Given the description of an element on the screen output the (x, y) to click on. 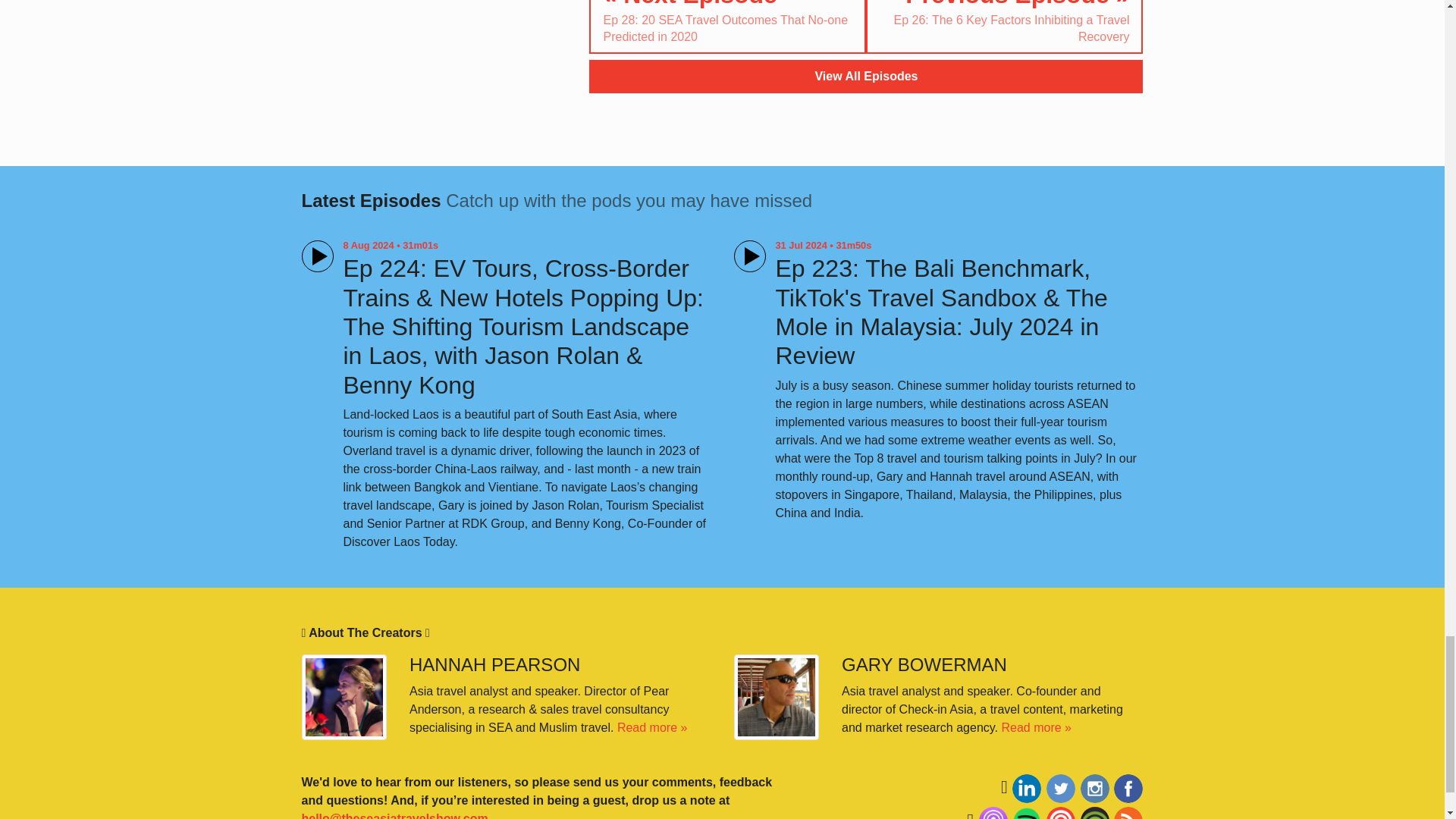
View All Episodes (865, 75)
Play (317, 255)
Play (749, 255)
